Given the description of an element on the screen output the (x, y) to click on. 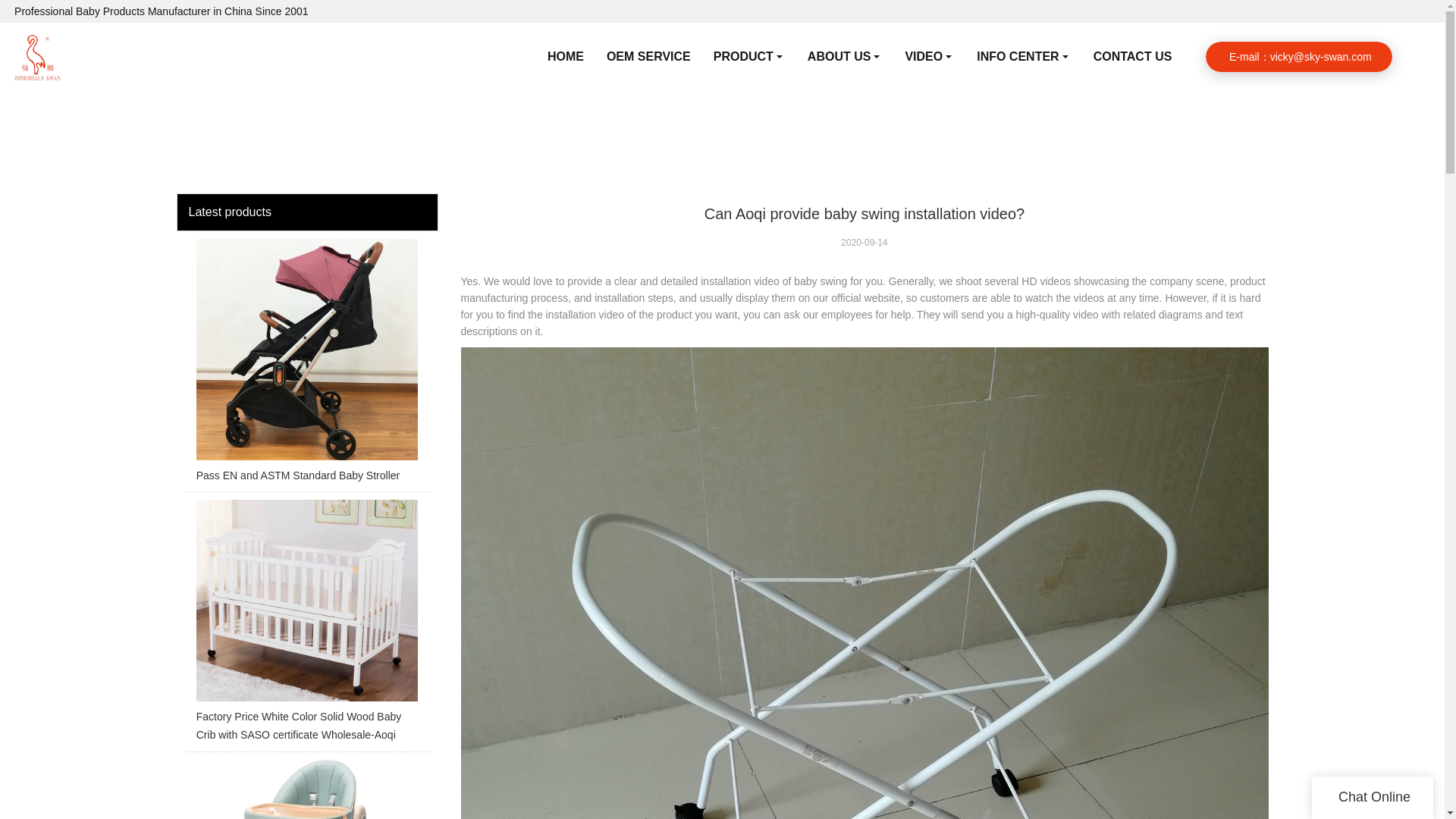
OEM SERVICE (648, 56)
PRODUCT (748, 56)
VIDEO (929, 56)
OEM Accept Baby High Chai Baby Feeding Chair for Kids (306, 789)
HOME (565, 56)
Pass EN and ASTM Standard Baby Stroller (306, 365)
INFO CENTER (1023, 56)
ABOUT US (844, 56)
CONTACT US (1132, 56)
